Given the description of an element on the screen output the (x, y) to click on. 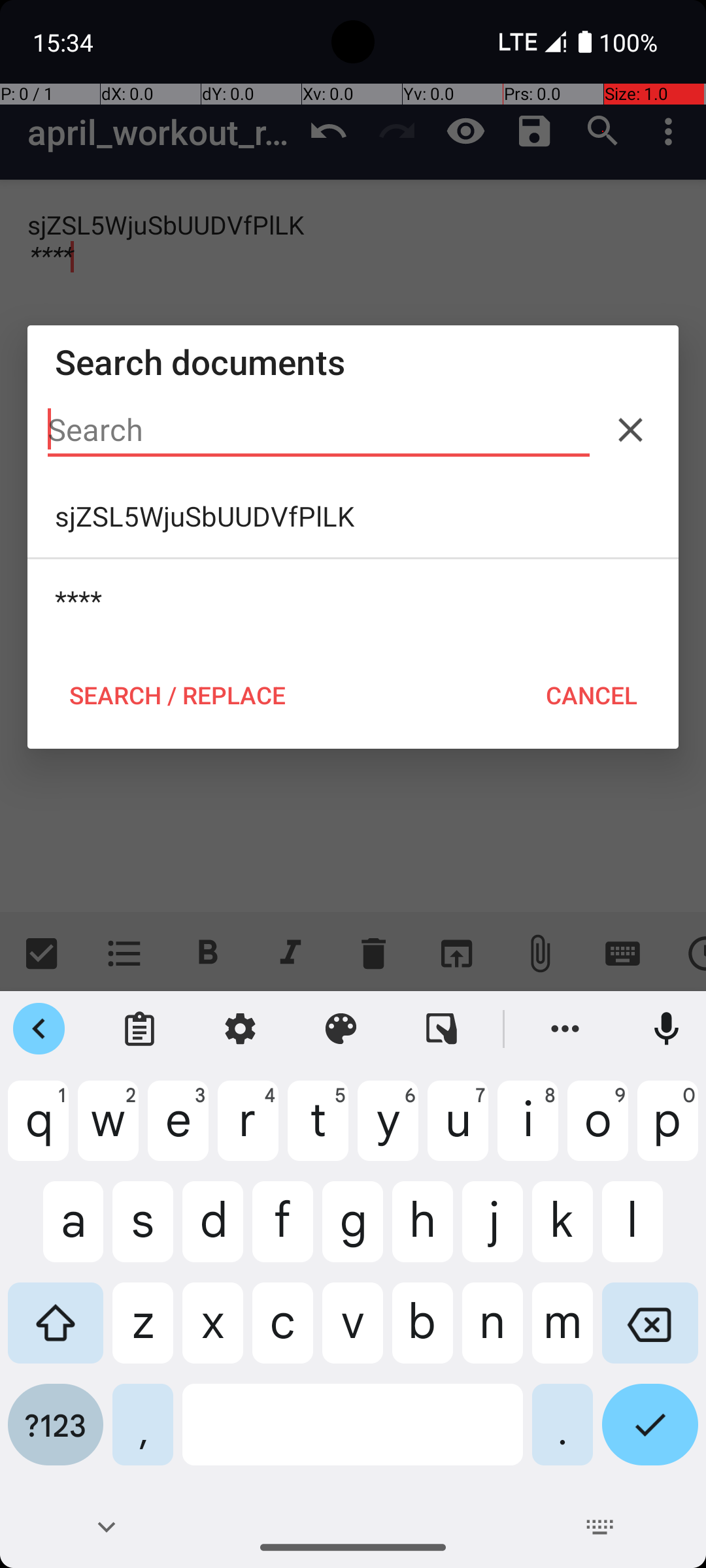
sjZSL5WjuSbUUDVfPlLK Element type: android.widget.TextView (352, 515)
**** Element type: android.widget.TextView (352, 600)
